Given the description of an element on the screen output the (x, y) to click on. 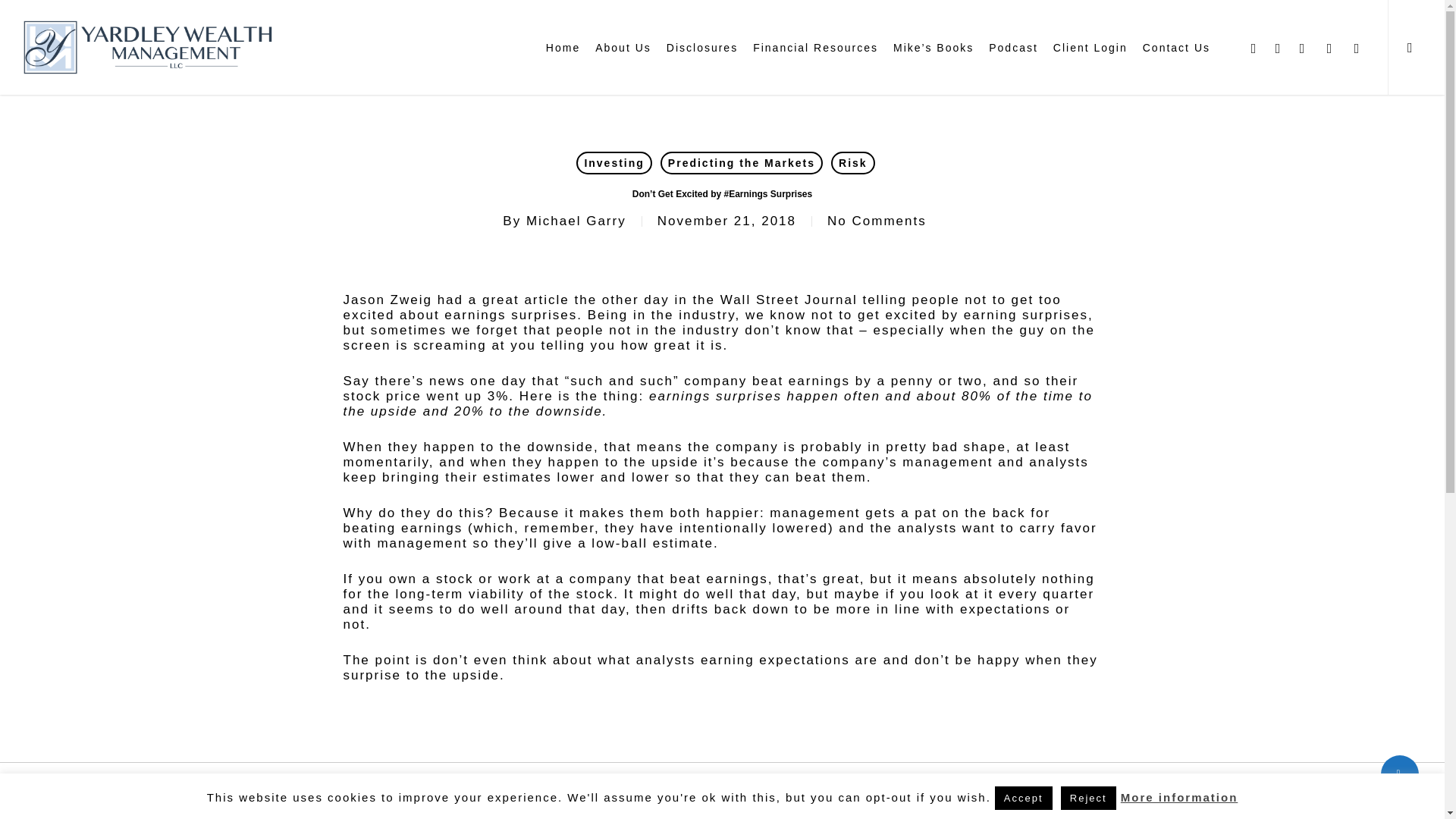
Home (563, 47)
Disclosures (702, 47)
youtube (1329, 47)
Client Login (1090, 47)
Contact Us (1176, 47)
linkedin (1302, 47)
About Us (623, 47)
Posts by Michael Garry (575, 220)
Financial Resources (815, 47)
instagram (1357, 47)
facebook (1278, 47)
x-twitter (1254, 47)
Podcast (1013, 47)
